Given the description of an element on the screen output the (x, y) to click on. 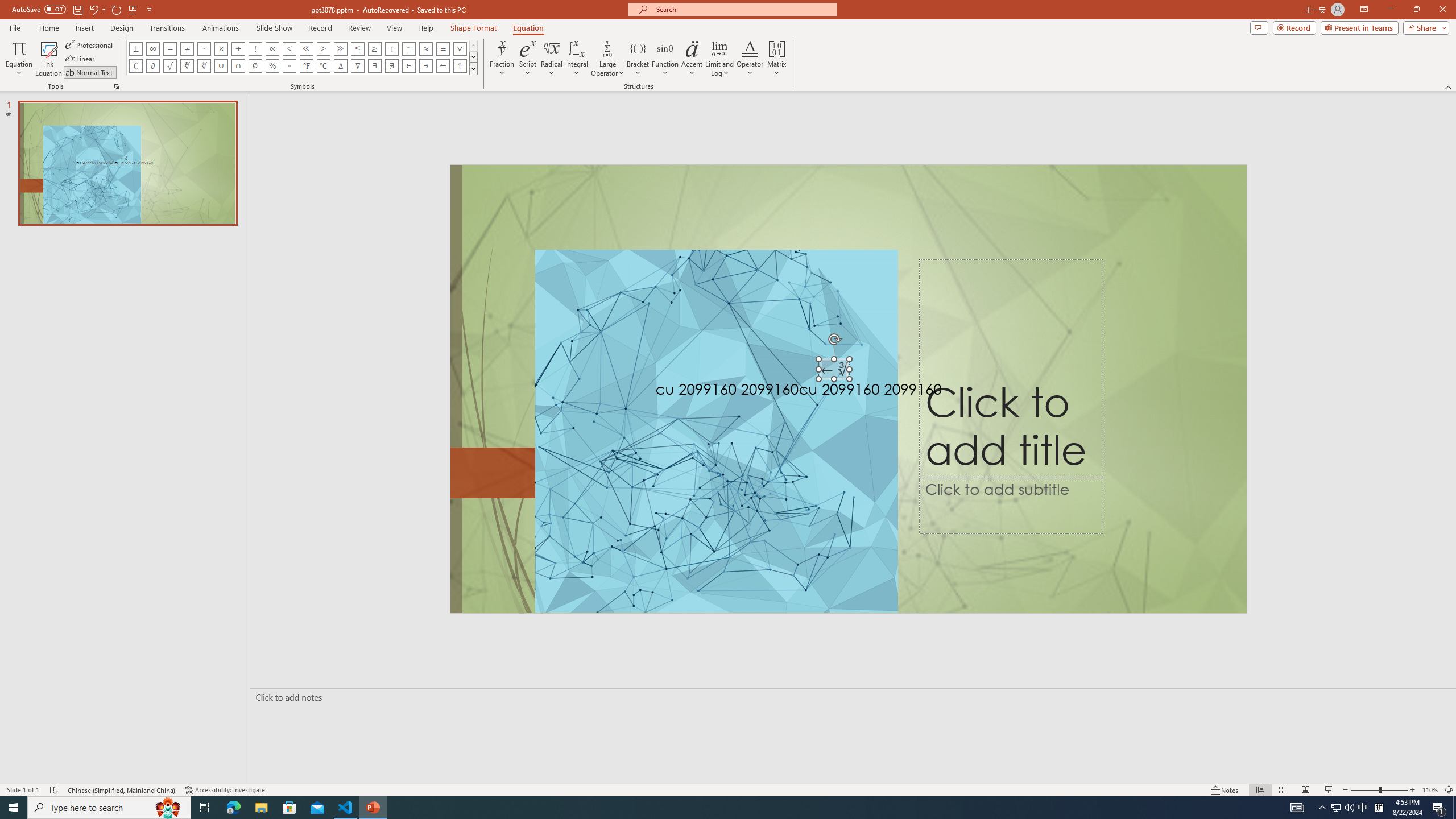
Equation Symbol Almost Equal To (Asymptotic To) (425, 48)
Equation Symbol Degrees (289, 65)
Limit and Log (719, 58)
Equation Symbol Equal (170, 48)
Equation Symbol Much Less Than (306, 48)
Equation Symbol Intersection (238, 65)
